Given the description of an element on the screen output the (x, y) to click on. 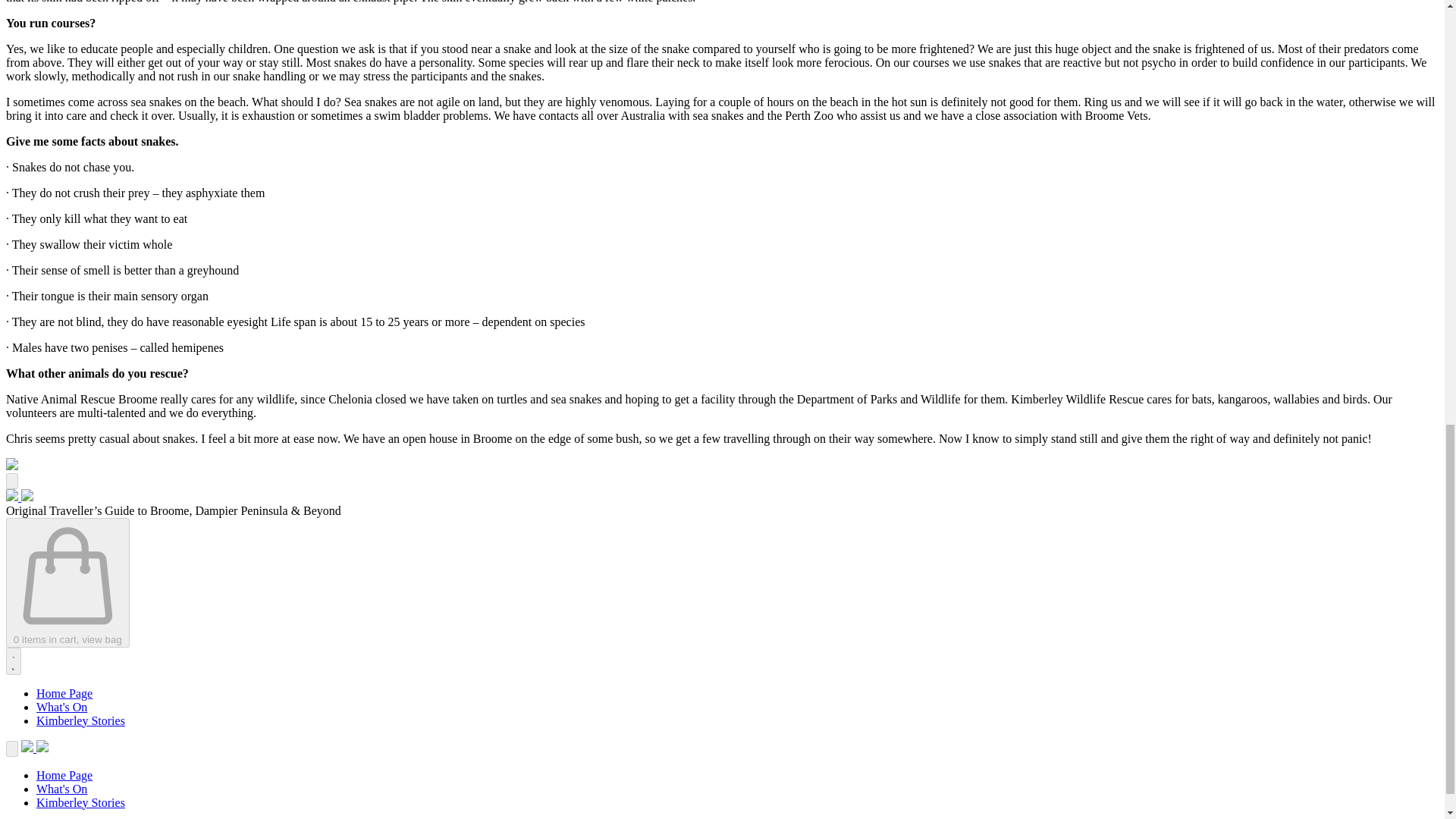
What's On (61, 707)
Kimberley Stories (80, 720)
Home Page (64, 775)
Kimberley Stories (80, 802)
What's On (61, 788)
0 items in cart, view bag (67, 582)
Home Page (64, 693)
